Given the description of an element on the screen output the (x, y) to click on. 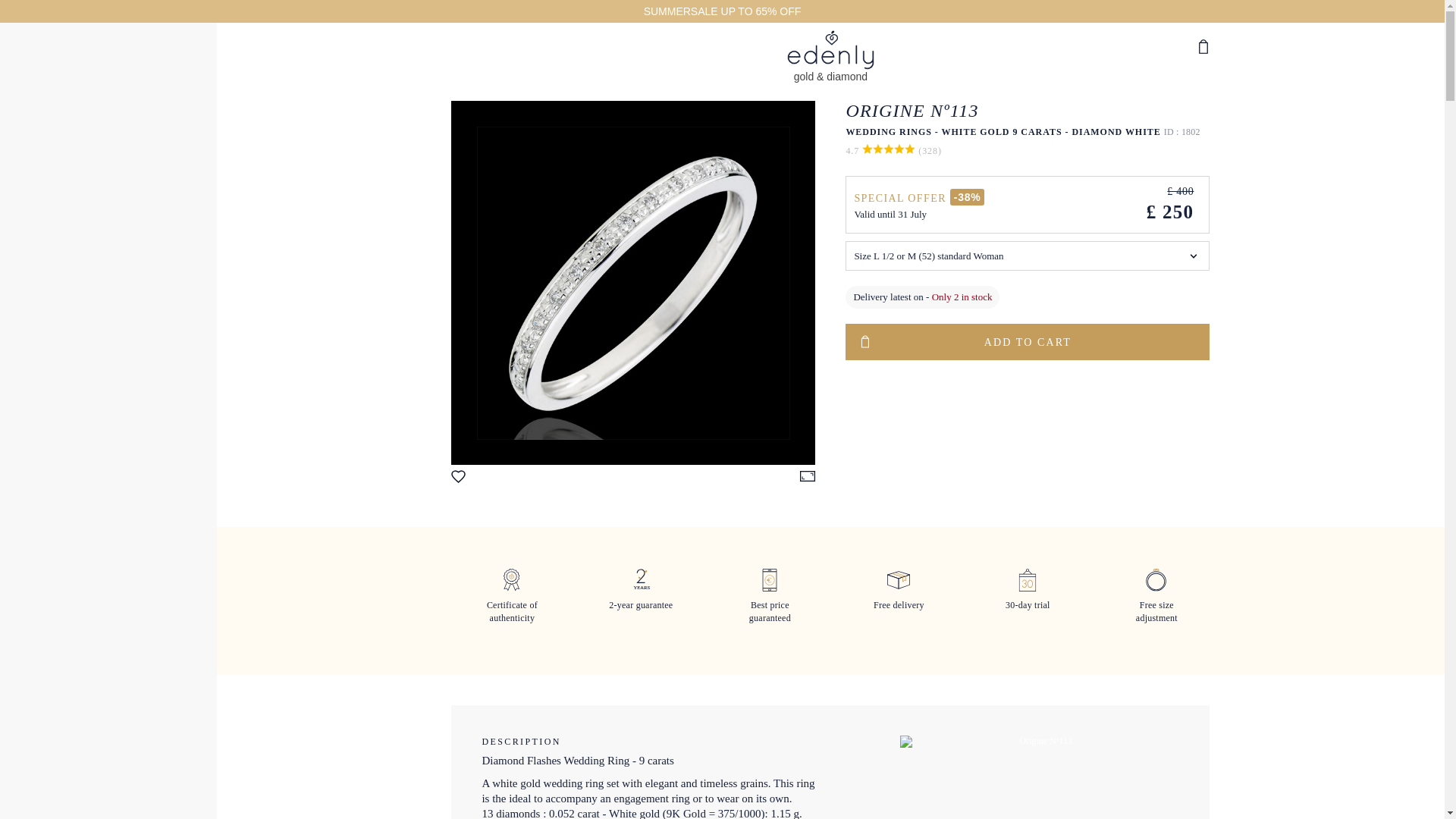
- Only 2 in stock (958, 297)
Valid until 31 July (889, 214)
Favorites (461, 479)
ADD TO CART (1027, 341)
